Given the description of an element on the screen output the (x, y) to click on. 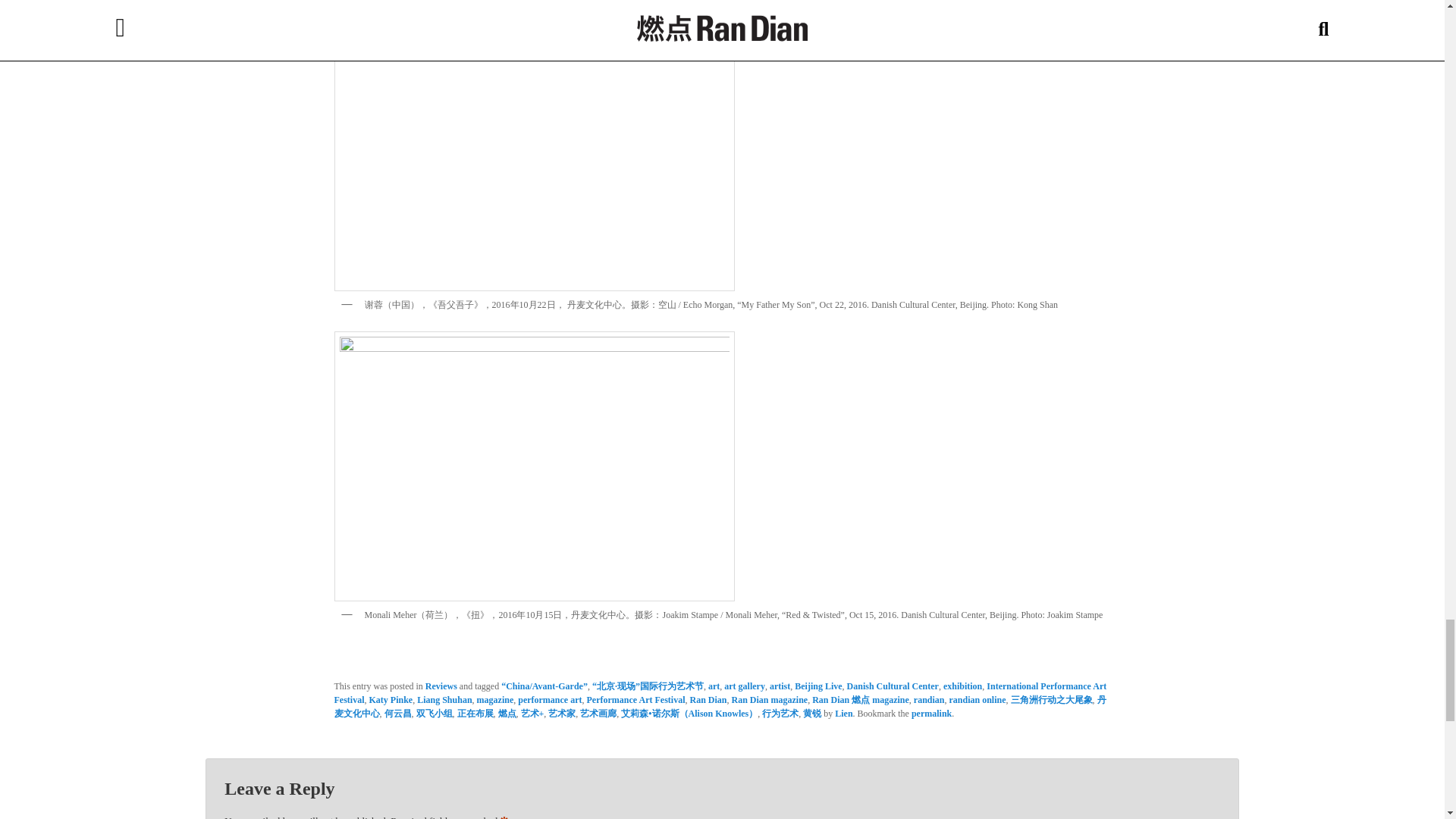
Beijing Live (817, 685)
Performance Art Festival (635, 699)
Katy Pinke (390, 699)
Ran Dian (707, 699)
randian (929, 699)
exhibition (962, 685)
Liang Shuhan (443, 699)
randian online (977, 699)
Ran Dian magazine (769, 699)
performance art (549, 699)
Reviews (441, 685)
Danish Cultural Center (893, 685)
art (713, 685)
artist (780, 685)
magazine (495, 699)
